Given the description of an element on the screen output the (x, y) to click on. 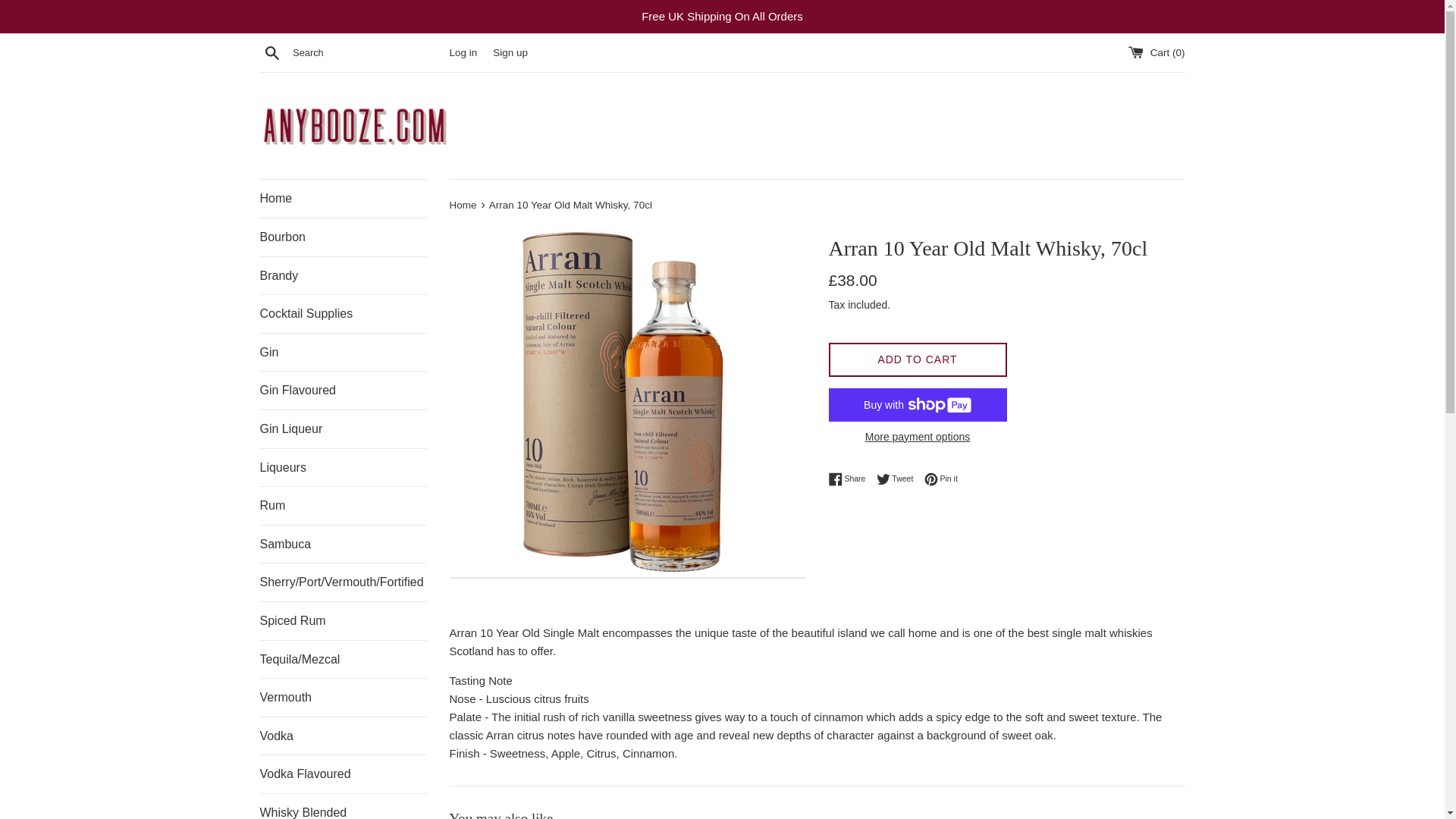
Pin on Pinterest (941, 479)
Vodka (342, 736)
Vodka Flavoured (342, 774)
Sambuca (342, 544)
Home (342, 198)
Share on Facebook (850, 479)
Brandy (342, 275)
Bourbon (342, 237)
Gin (342, 352)
Log in (462, 52)
Cocktail Supplies (342, 313)
Spiced Rum (342, 620)
Liqueurs (342, 467)
Gin Flavoured (342, 390)
Search (271, 52)
